Given the description of an element on the screen output the (x, y) to click on. 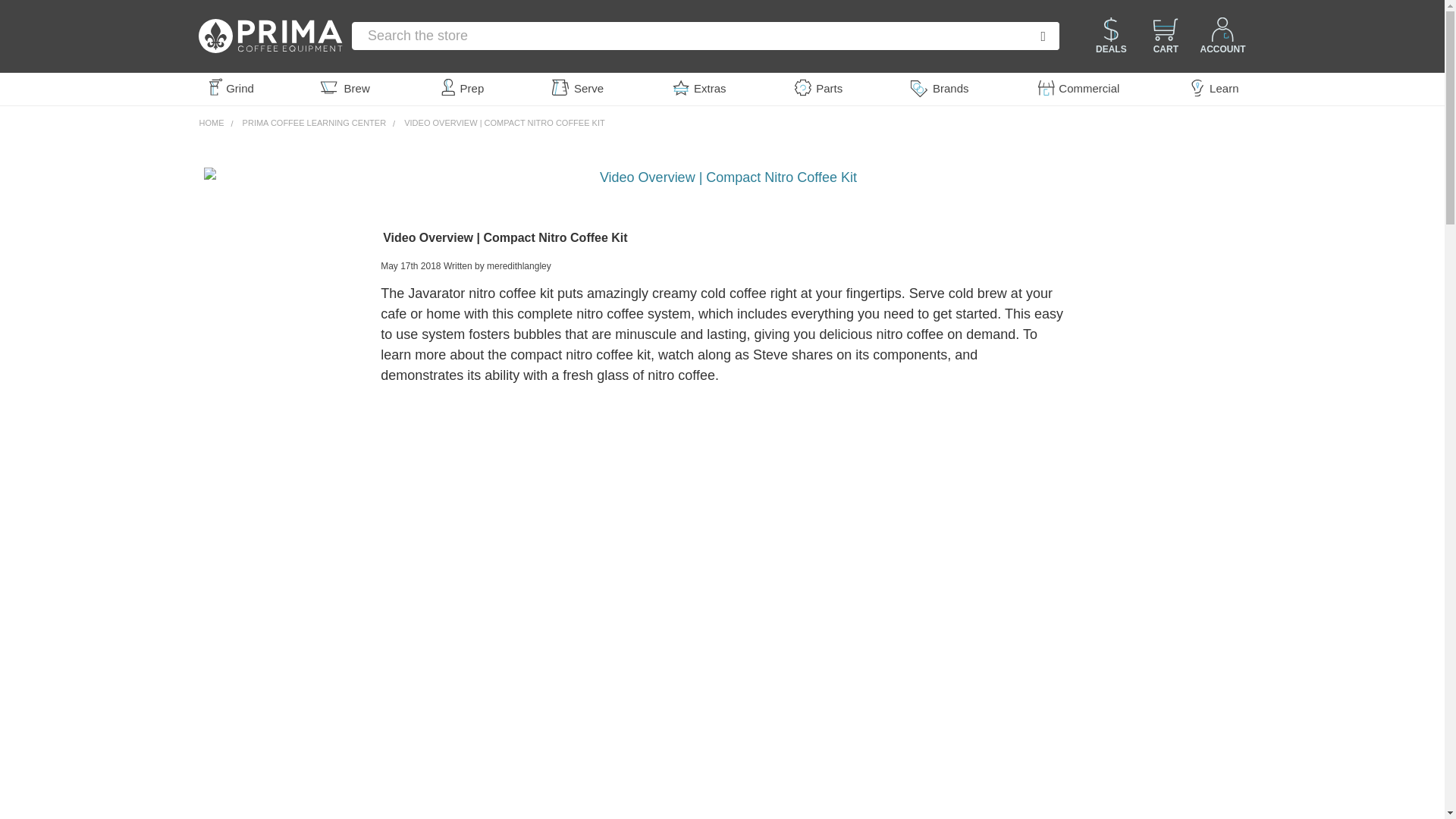
Brew (347, 88)
Search (1030, 35)
Grind (229, 88)
ACCOUNT (1221, 35)
User (1221, 29)
Search (1030, 35)
Prima Coffee Equipment (270, 35)
